Given the description of an element on the screen output the (x, y) to click on. 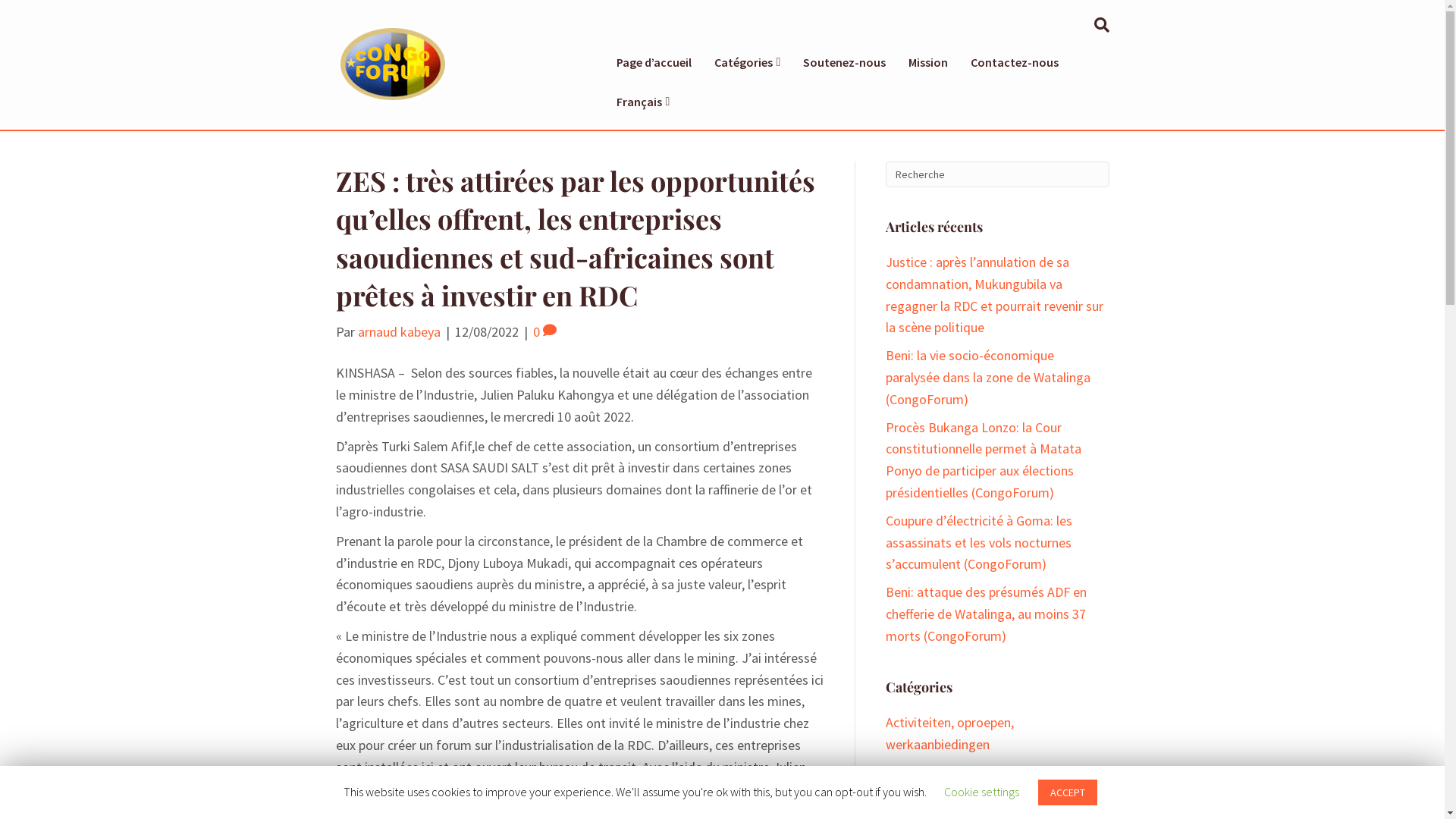
Cookie settings Element type: text (981, 791)
Contactez-nous Element type: text (1014, 61)
arnaud kabeya Element type: text (398, 331)
Activiteiten, oproepen, werkaanbiedingen Element type: text (949, 733)
Soutenez-nous Element type: text (844, 61)
ACCEPT Element type: text (1067, 792)
0 Element type: text (543, 331)
Mission Element type: text (928, 61)
